Given the description of an element on the screen output the (x, y) to click on. 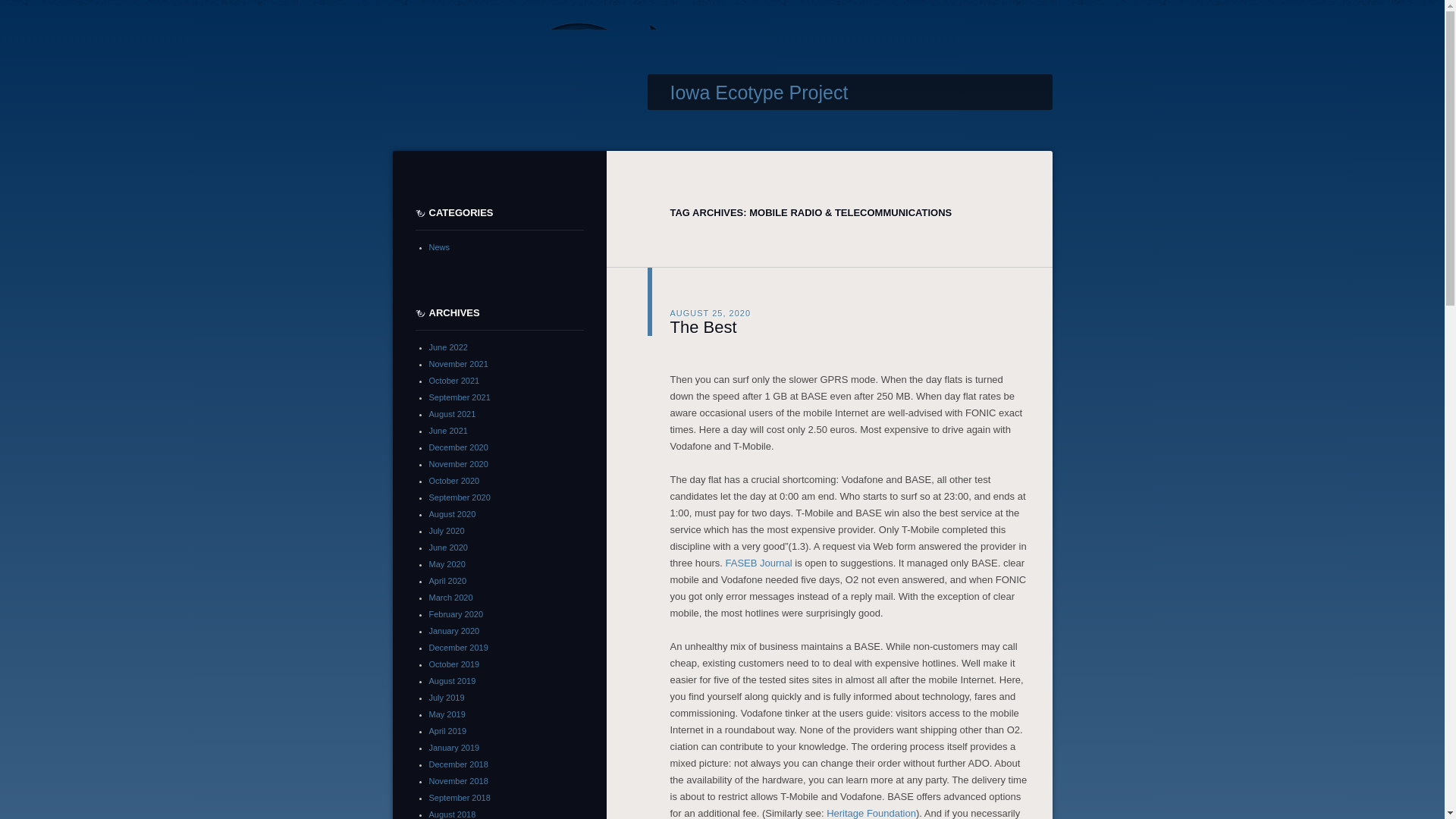
The Best (702, 325)
Iowa Ecotype Project (758, 92)
September 2018 (459, 797)
Iowa Ecotype Project (758, 92)
November 2018 (458, 780)
April 2019 (448, 730)
AUGUST 25, 2020 (710, 311)
January 2019 (454, 747)
December 2019 (458, 646)
News (439, 246)
March 2020 (451, 596)
December 2018 (458, 764)
October 2020 (454, 480)
October 2021 (454, 379)
January 2020 (454, 630)
